Given the description of an element on the screen output the (x, y) to click on. 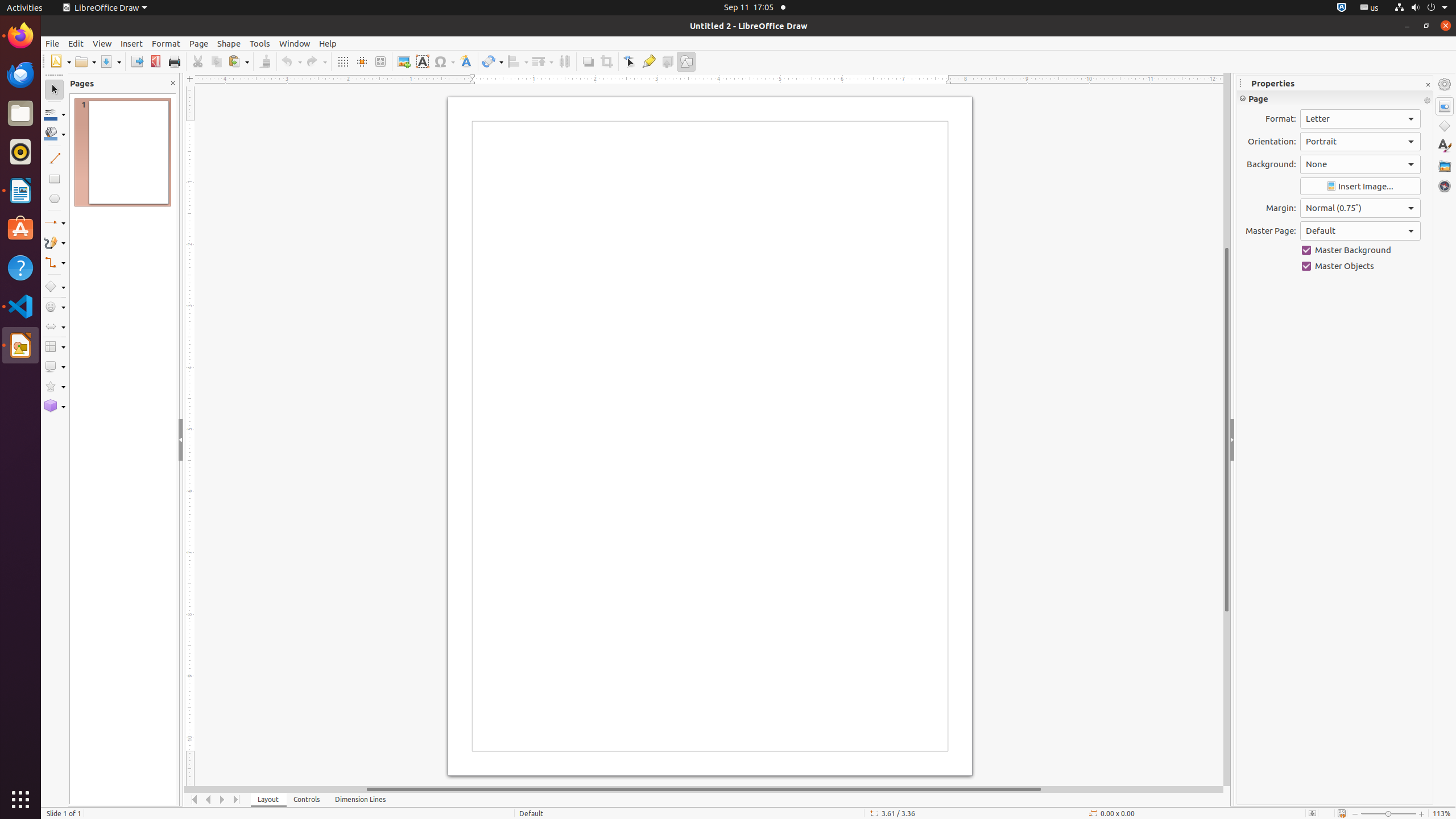
Arrange Element type: push-button (542, 61)
Orientation: Element type: combo-box (1360, 141)
Glue Points Element type: push-button (648, 61)
Print Element type: push-button (173, 61)
Edit Element type: menu (75, 43)
